Given the description of an element on the screen output the (x, y) to click on. 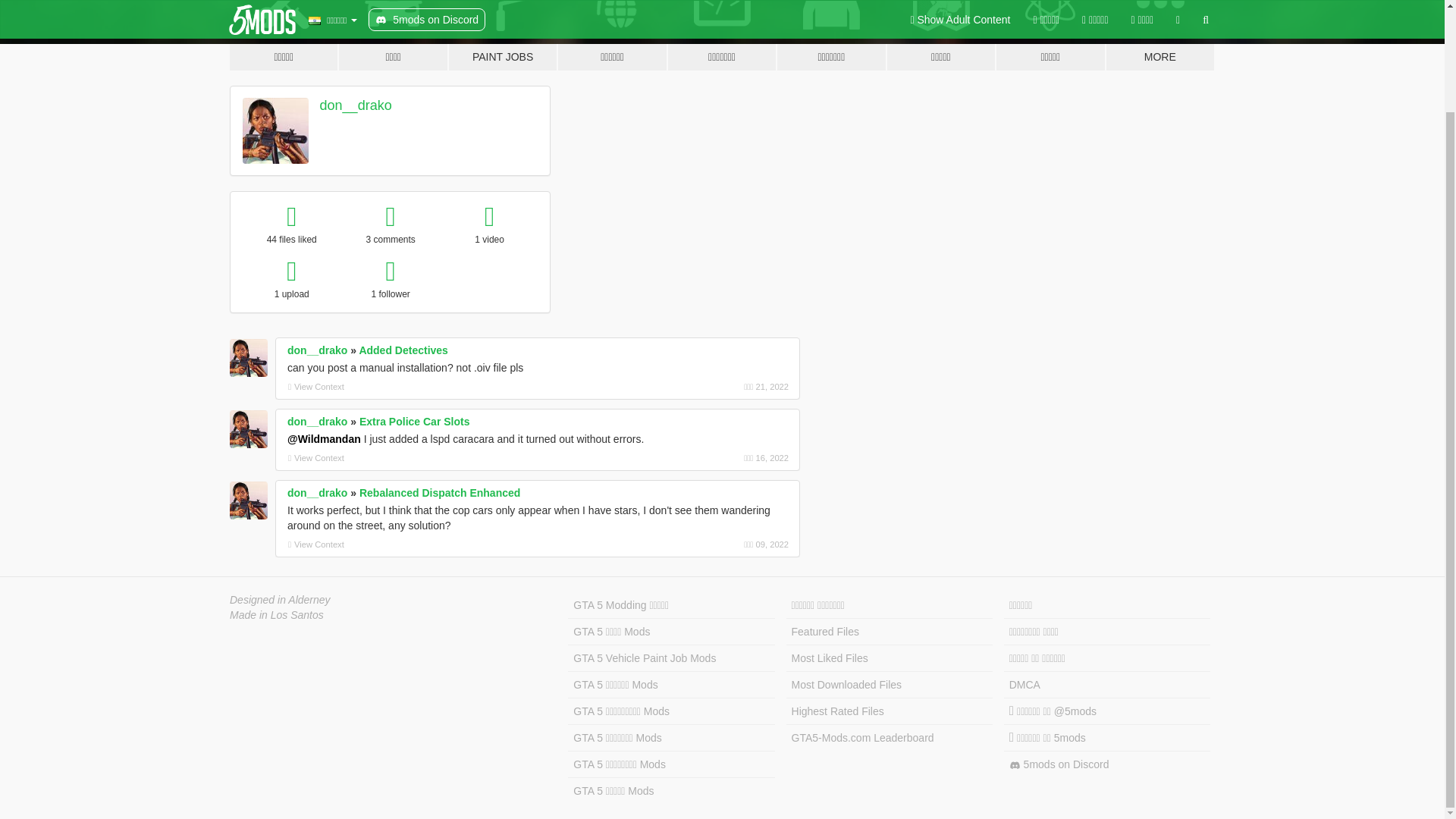
5mods on Discord (1106, 764)
